Given the description of an element on the screen output the (x, y) to click on. 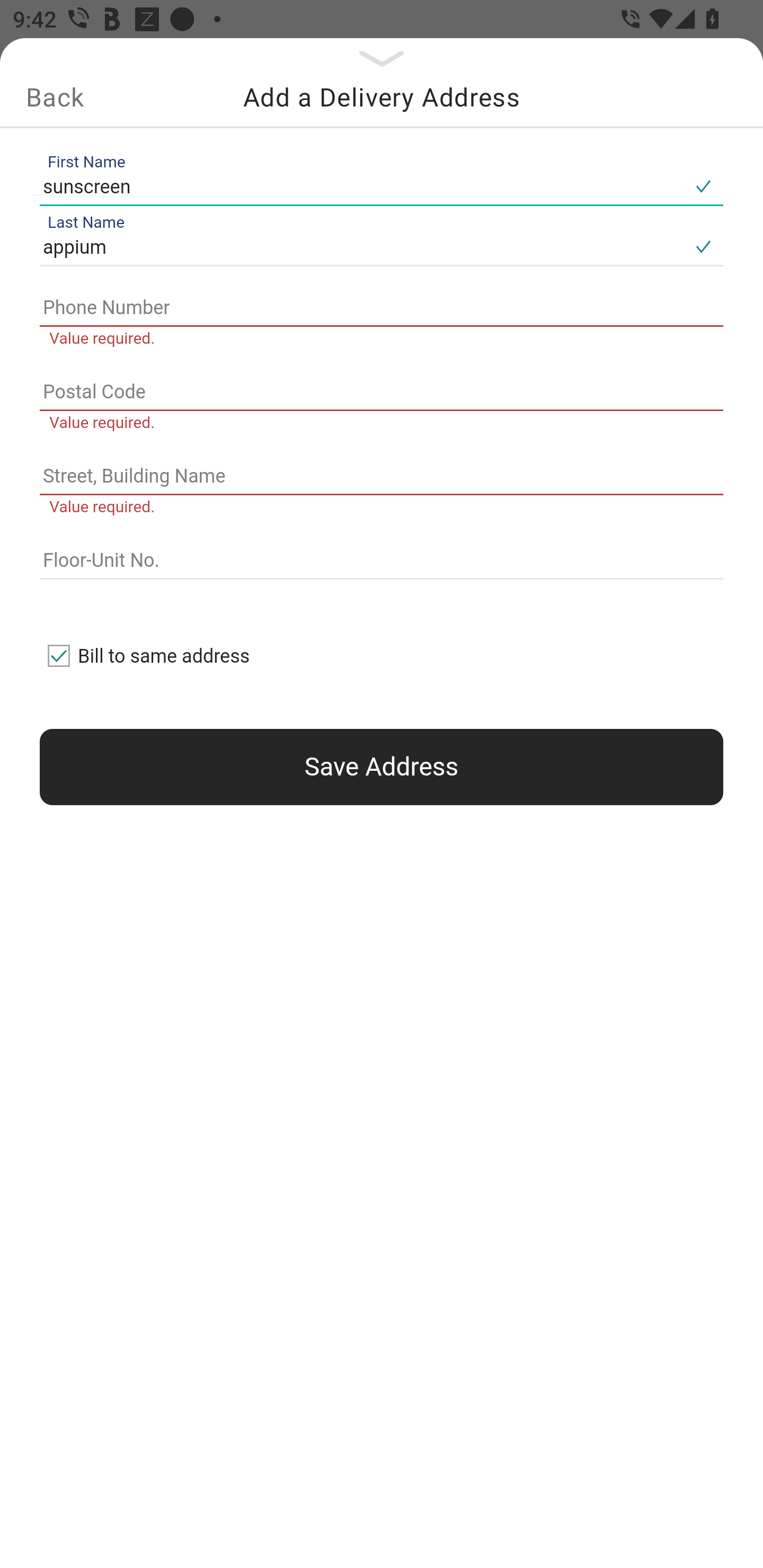
Back (54, 96)
Add a Delivery Address (381, 96)
sunscreen (361, 186)
appium (361, 247)
Save Address (381, 767)
